Given the description of an element on the screen output the (x, y) to click on. 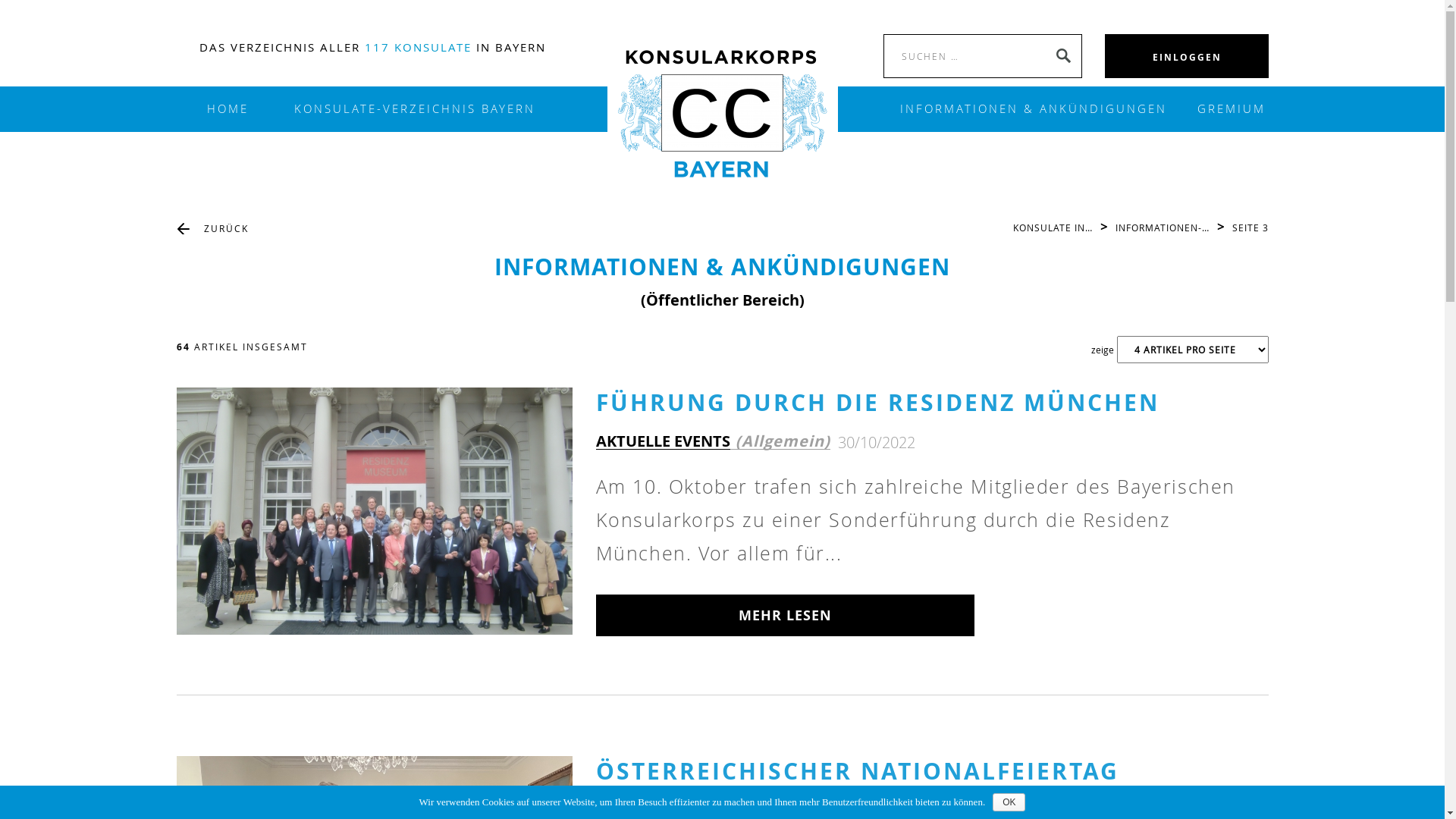
HOME Element type: text (227, 108)
OK Element type: text (1008, 802)
117 KONSULATE Element type: text (417, 46)
SEARCH Element type: text (1062, 55)
GREMIUM Element type: text (1223, 108)
EINLOGGEN Element type: text (1186, 56)
MEHR LESEN Element type: text (785, 615)
KONSULATE-VERZEICHNIS BAYERN Element type: text (414, 108)
